Given the description of an element on the screen output the (x, y) to click on. 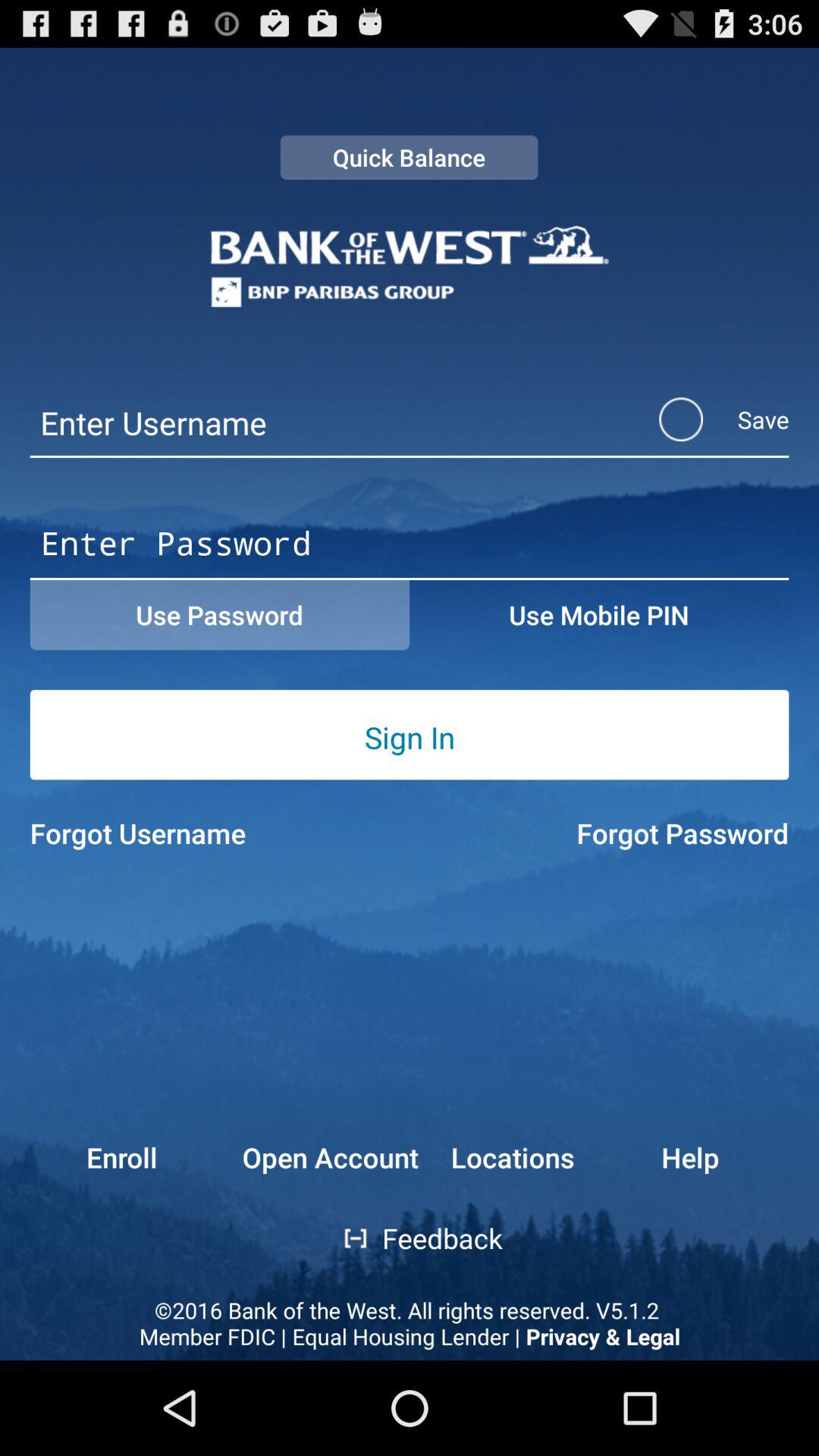
choose item next to the locations button (330, 1157)
